Given the description of an element on the screen output the (x, y) to click on. 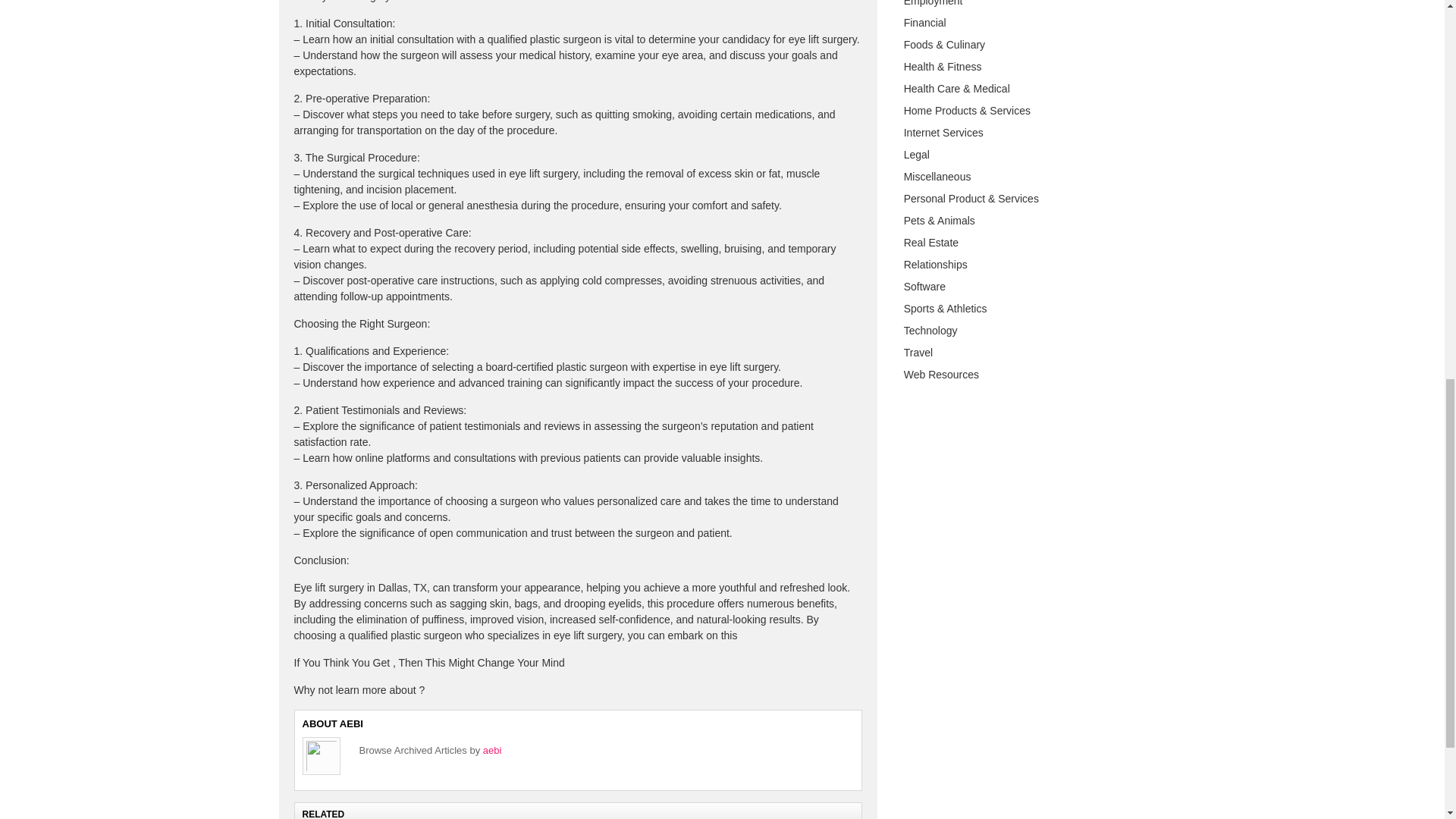
Miscellaneous (937, 176)
Legal (917, 154)
aebi (492, 749)
Employment (933, 3)
Real Estate (931, 242)
Financial (925, 22)
Why not learn more about ? (359, 689)
Internet Services (944, 132)
If You Think You Get , Then This Might Change Your Mind (429, 662)
